Given the description of an element on the screen output the (x, y) to click on. 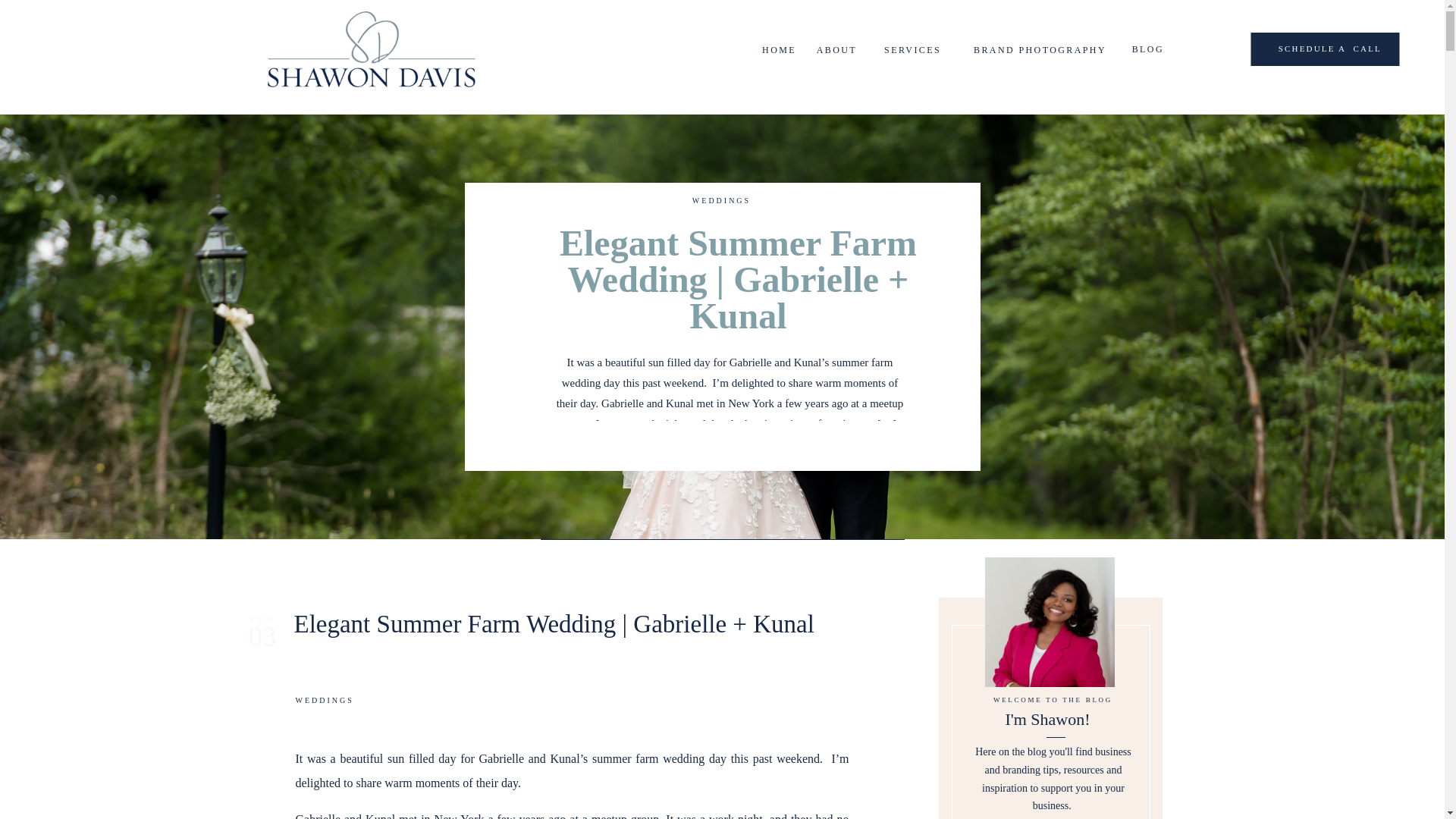
WEDDINGS (722, 200)
SCHEDULE A  CALL (1291, 48)
BLOG (1144, 48)
WELCOME TO THE BLOG (1053, 699)
SERVICES (908, 49)
I'm Shawon! (1046, 721)
ABOUT (832, 49)
BRAND PHOTOGRAPHY (1030, 49)
HOME (771, 49)
